Given the description of an element on the screen output the (x, y) to click on. 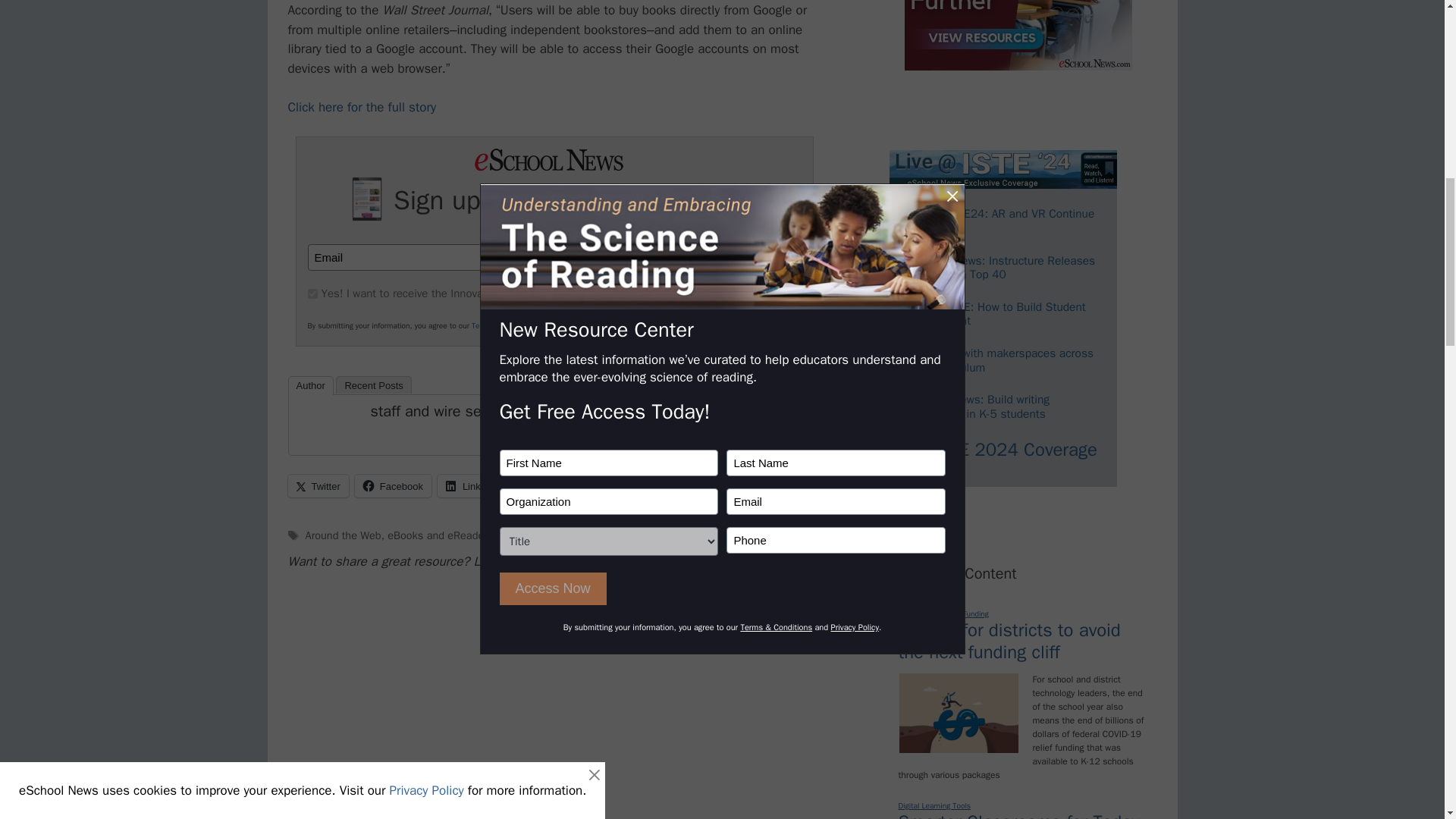
100 (312, 293)
SUBSCRIBE (727, 257)
